Given the description of an element on the screen output the (x, y) to click on. 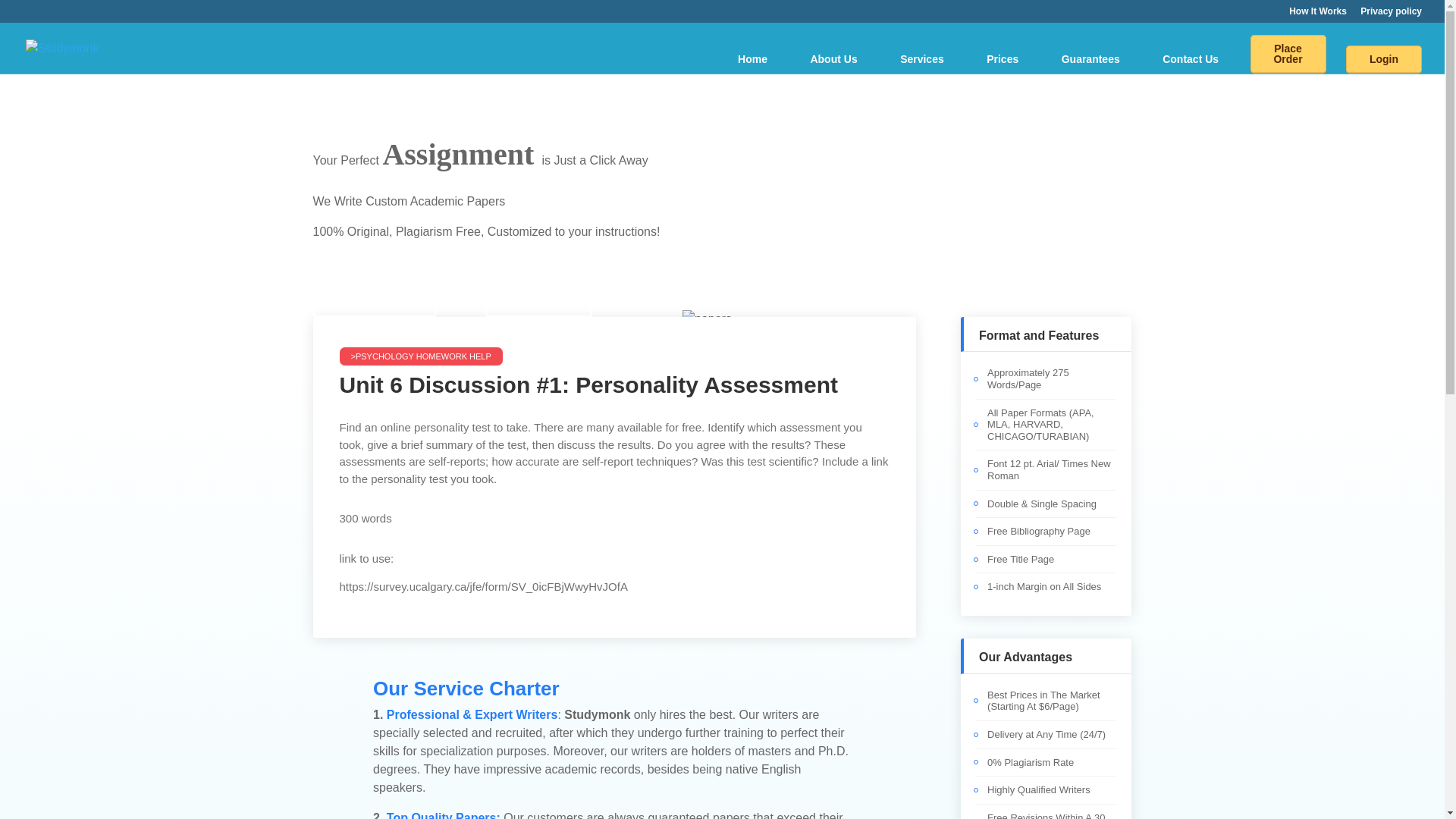
How It Works (374, 298)
Order Now (538, 298)
Home (752, 58)
Contact Us (1190, 58)
Guarantees (1090, 58)
Privacy policy (1390, 14)
Login (1383, 59)
Place Order (1288, 54)
Prices (1002, 58)
About Us (832, 58)
